Given the description of an element on the screen output the (x, y) to click on. 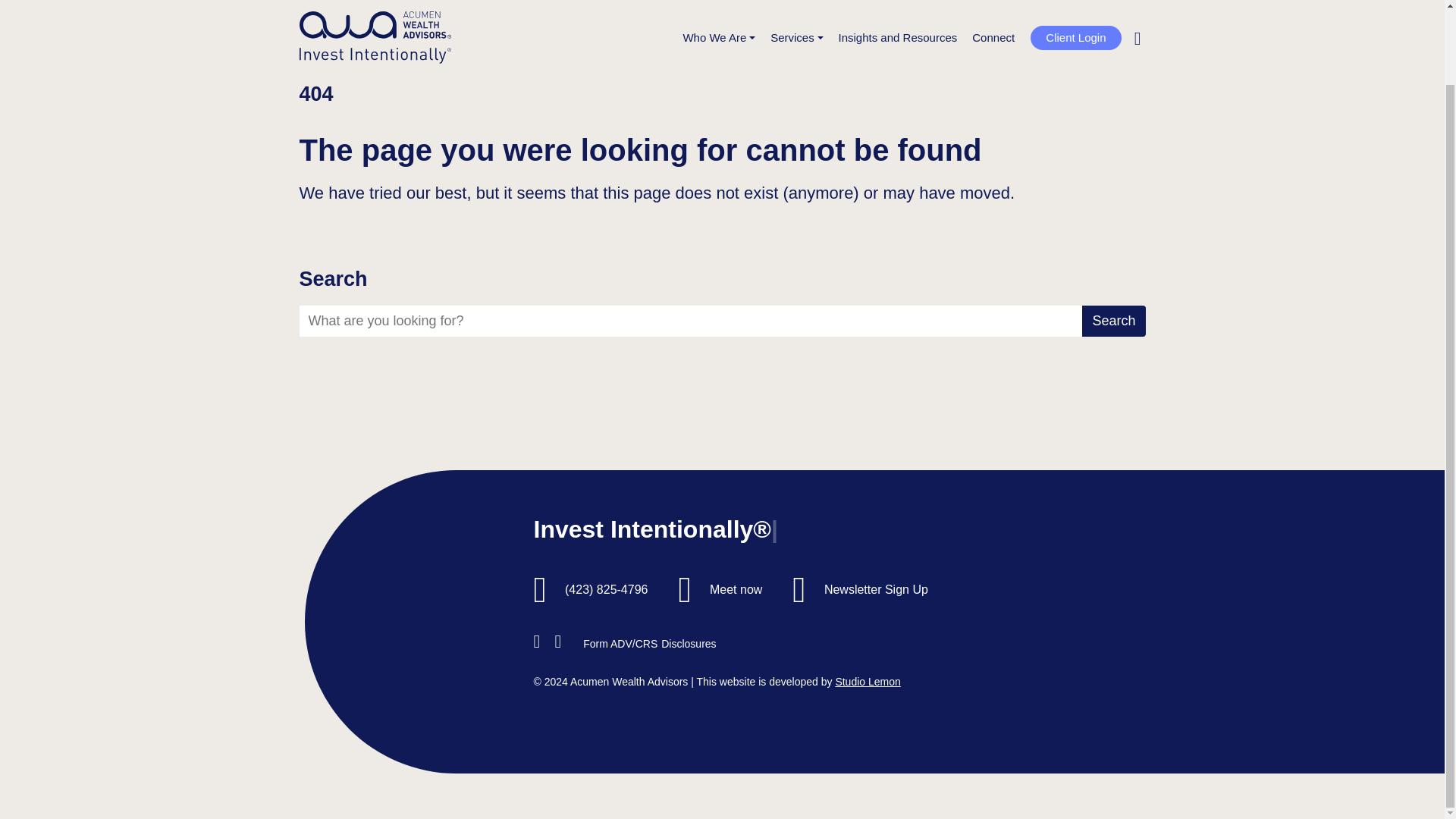
Connect (992, 5)
Toggle search (1137, 4)
Insights and Resources (898, 5)
Services (795, 5)
Who We Are (718, 5)
Newsletter Sign Up (876, 589)
Client Login (1075, 4)
Meet now (735, 589)
Search (1112, 8)
Search (1112, 320)
Acumen Wealth Advisors (373, 16)
